Given the description of an element on the screen output the (x, y) to click on. 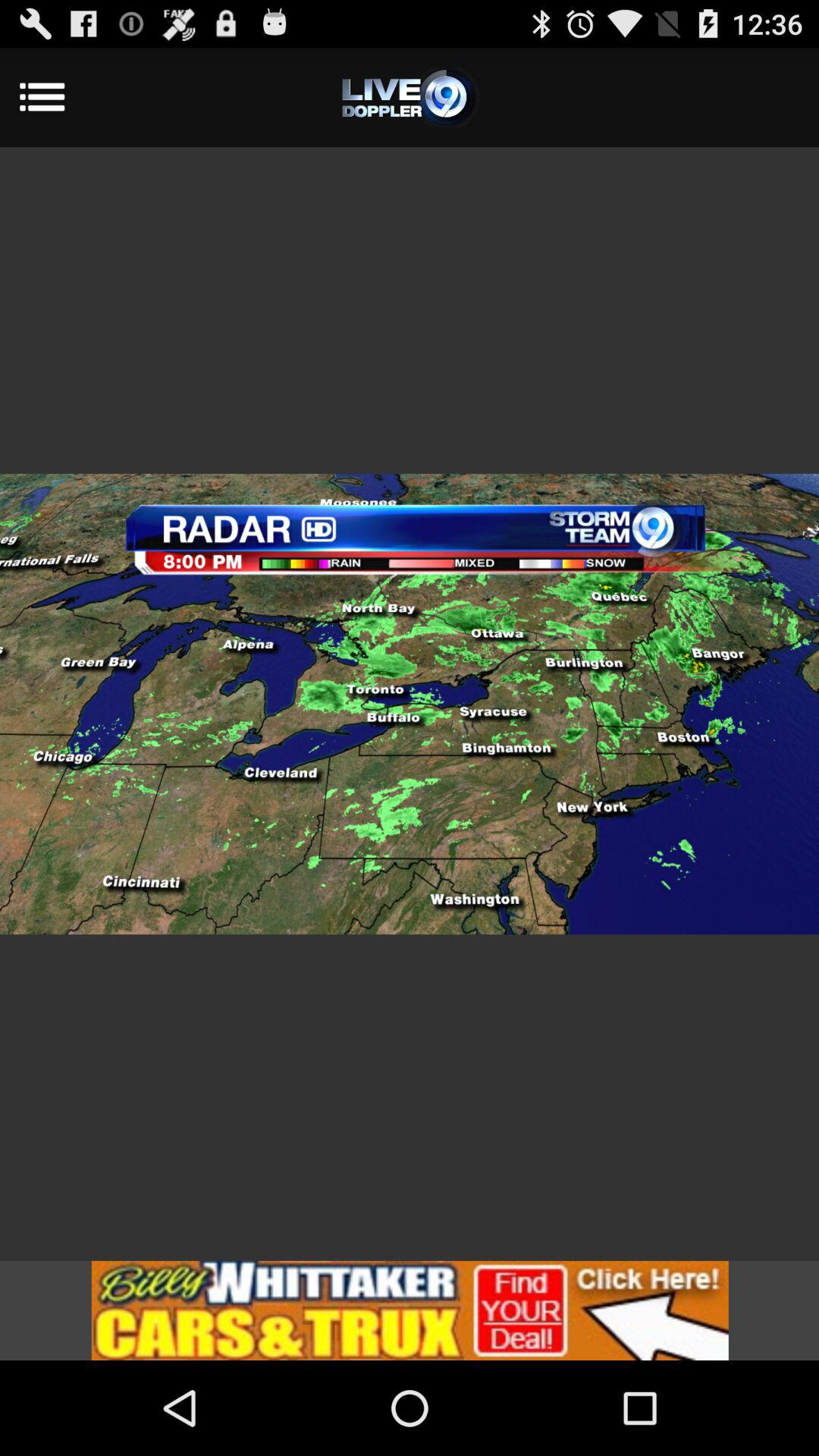
go to advertisement page (409, 1310)
